Given the description of an element on the screen output the (x, y) to click on. 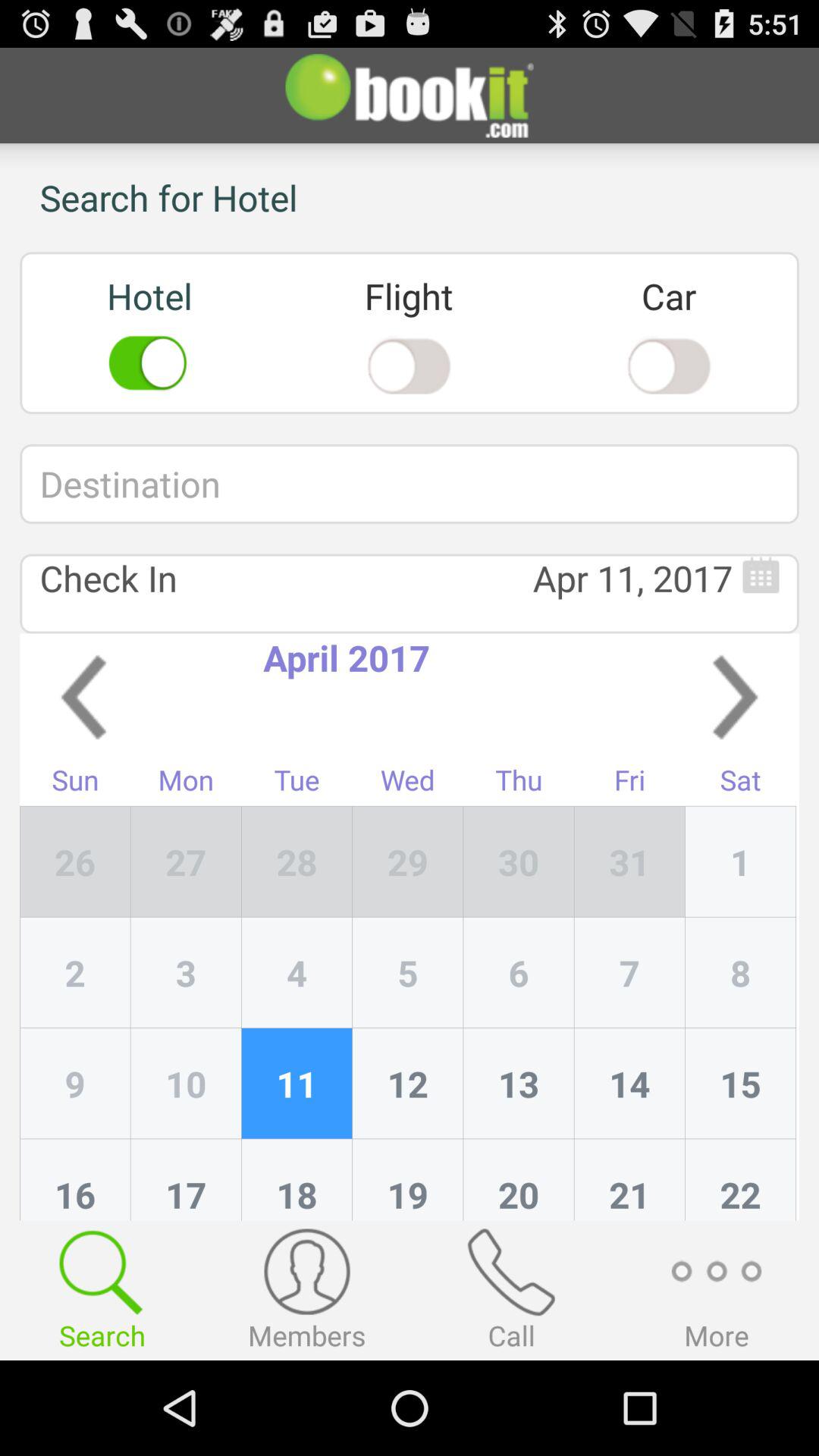
open item below the mon app (296, 861)
